Given the description of an element on the screen output the (x, y) to click on. 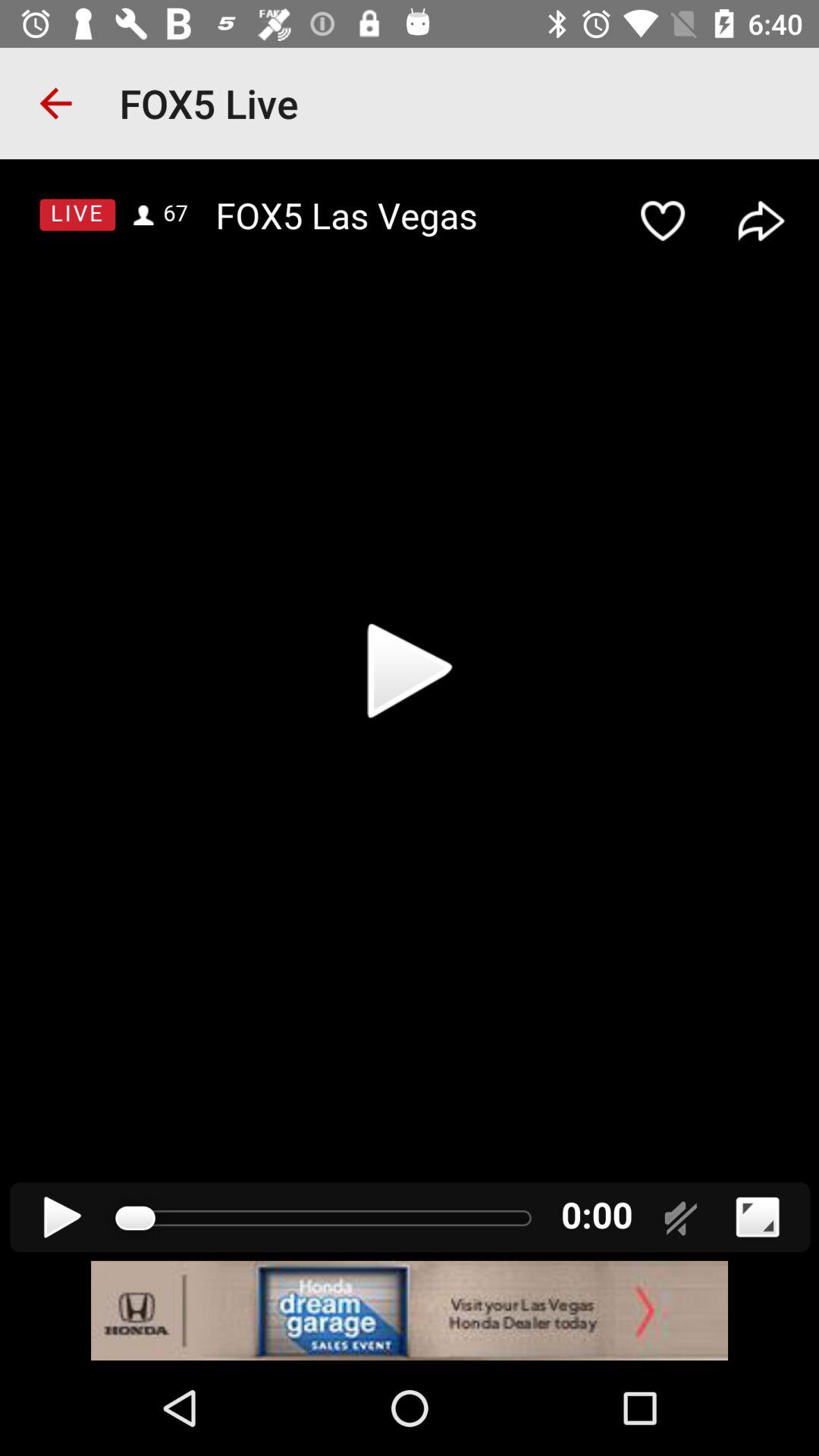
advertisements banner (409, 1310)
